Given the description of an element on the screen output the (x, y) to click on. 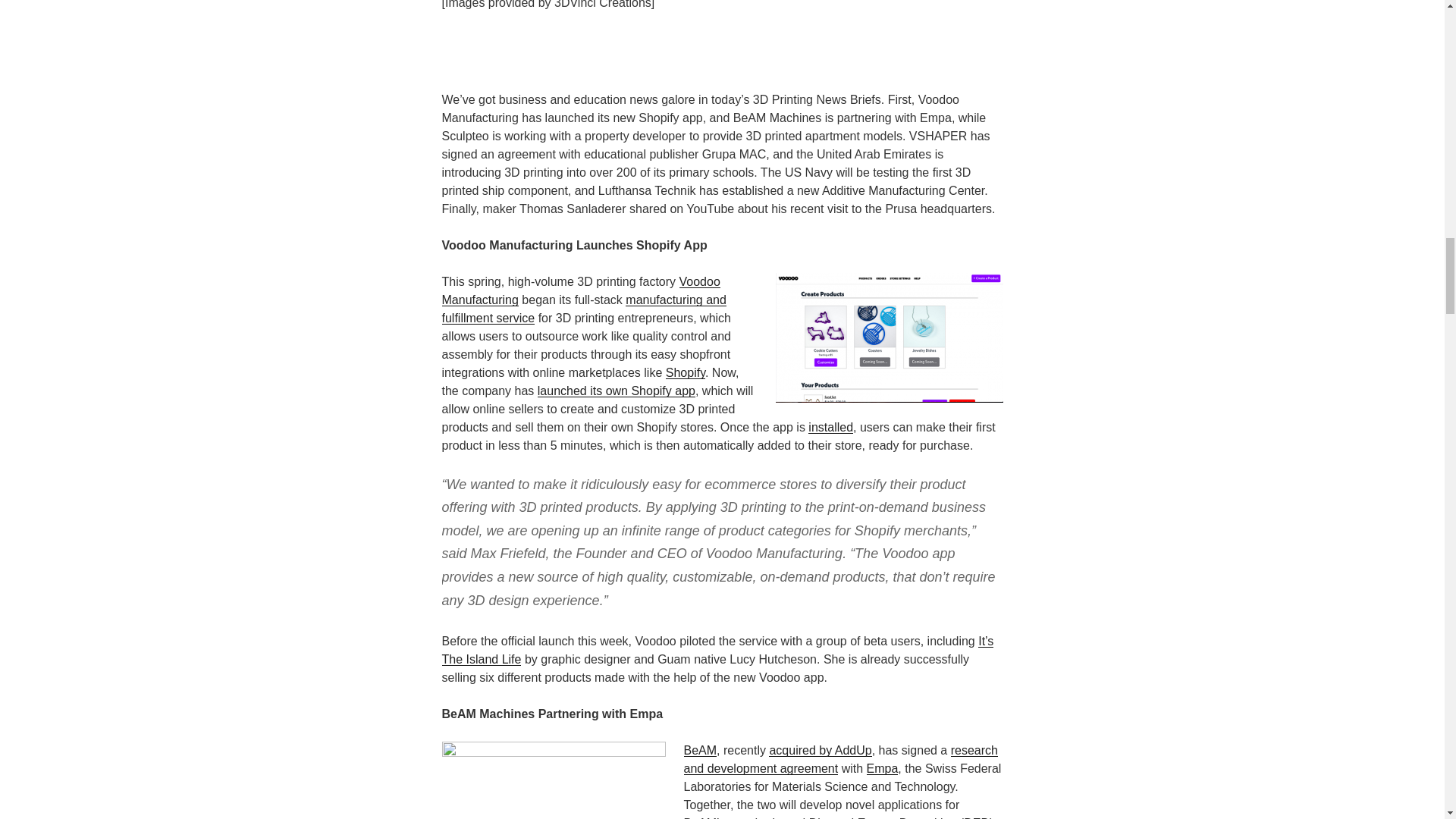
Voodoo Manufacturing (580, 290)
BeAM (700, 749)
manufacturing and fulfillment service (583, 308)
Shopify (684, 372)
installed (830, 427)
acquired by AddUp (819, 749)
research and development agreement (840, 758)
launched its own Shopify app (616, 390)
